Given the description of an element on the screen output the (x, y) to click on. 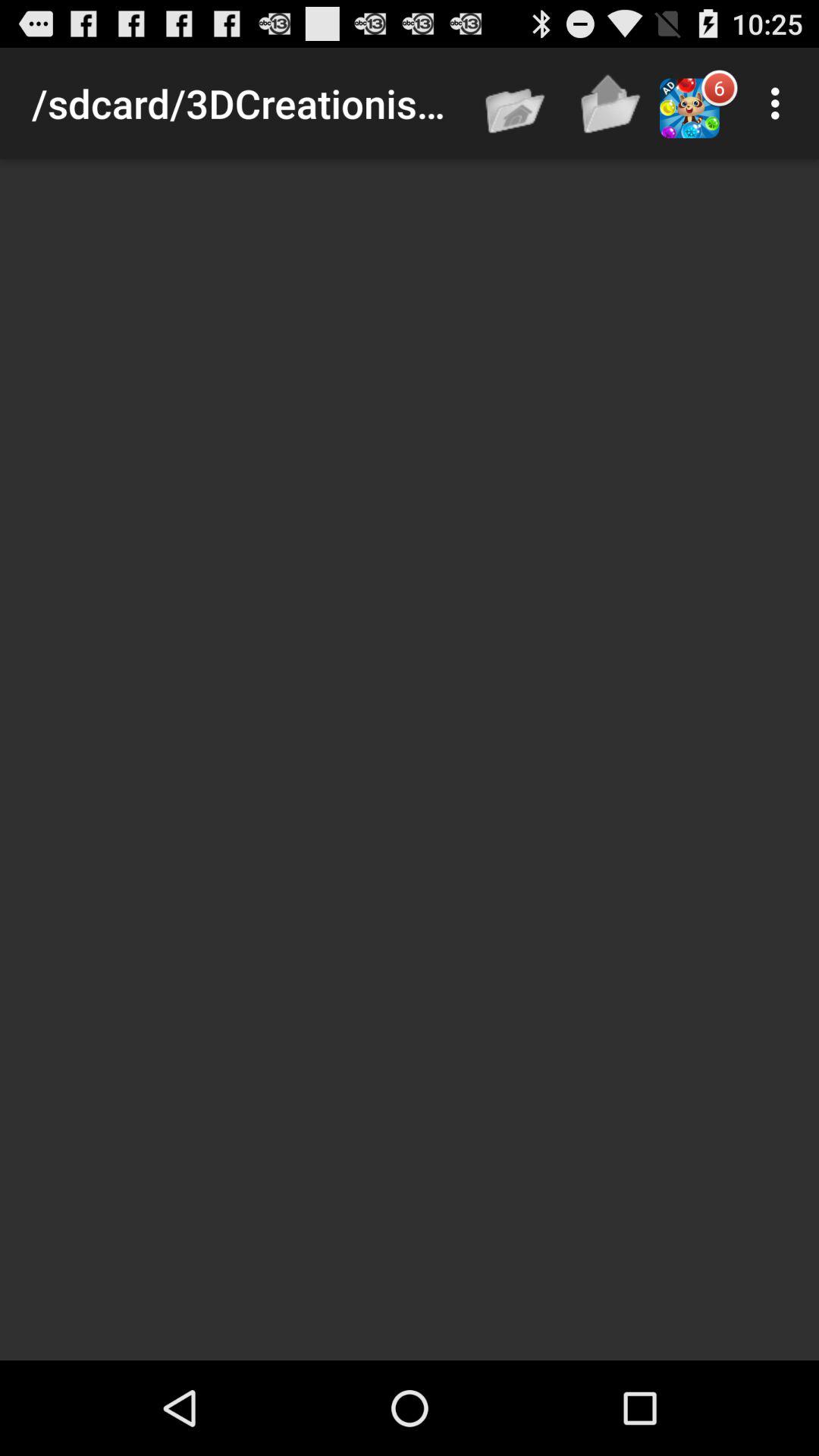
select the item to the right of sdcard 3dcreationist saved_1 item (516, 103)
